Given the description of an element on the screen output the (x, y) to click on. 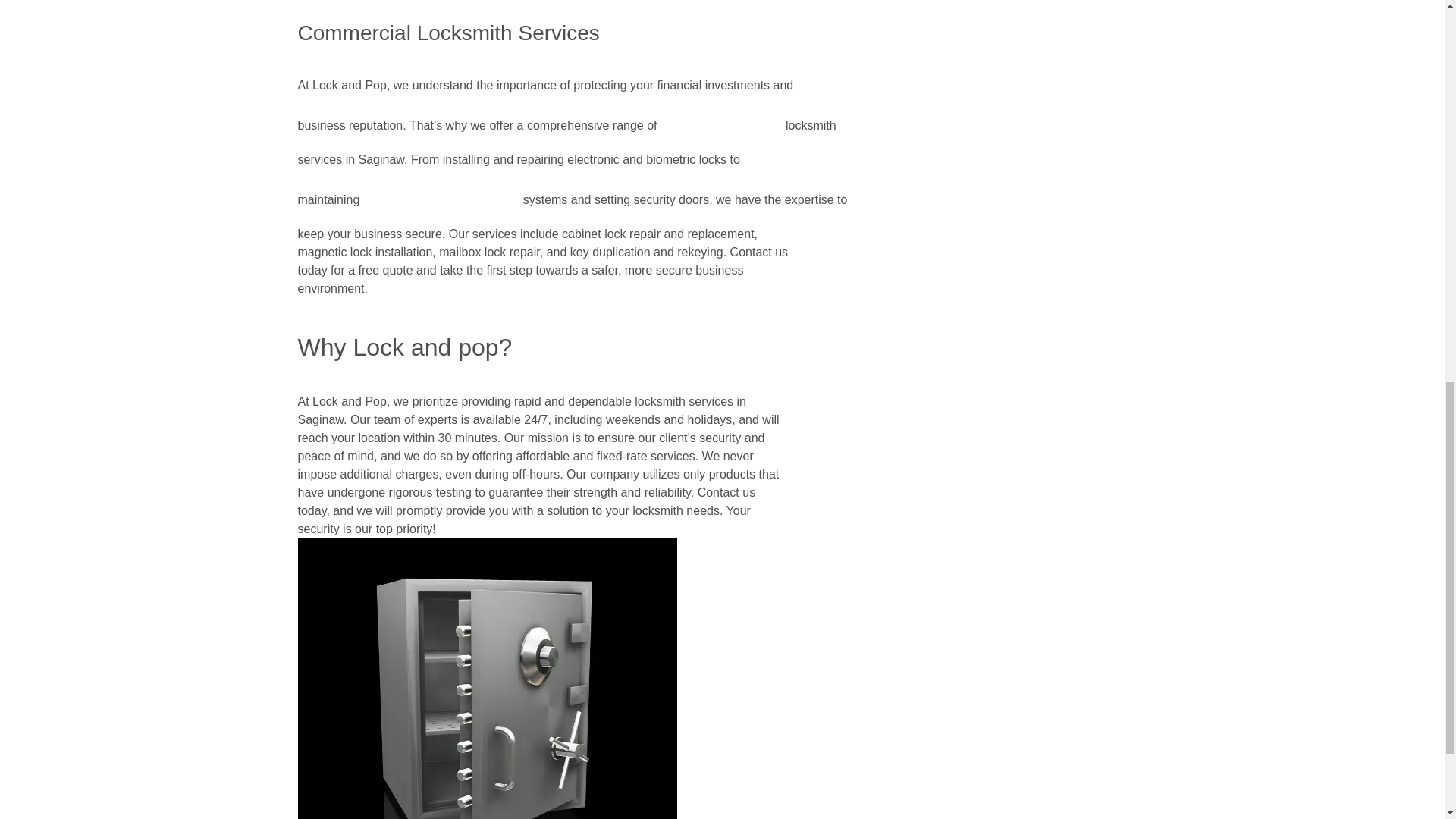
Access Control (440, 196)
Commercial (722, 122)
